Given the description of an element on the screen output the (x, y) to click on. 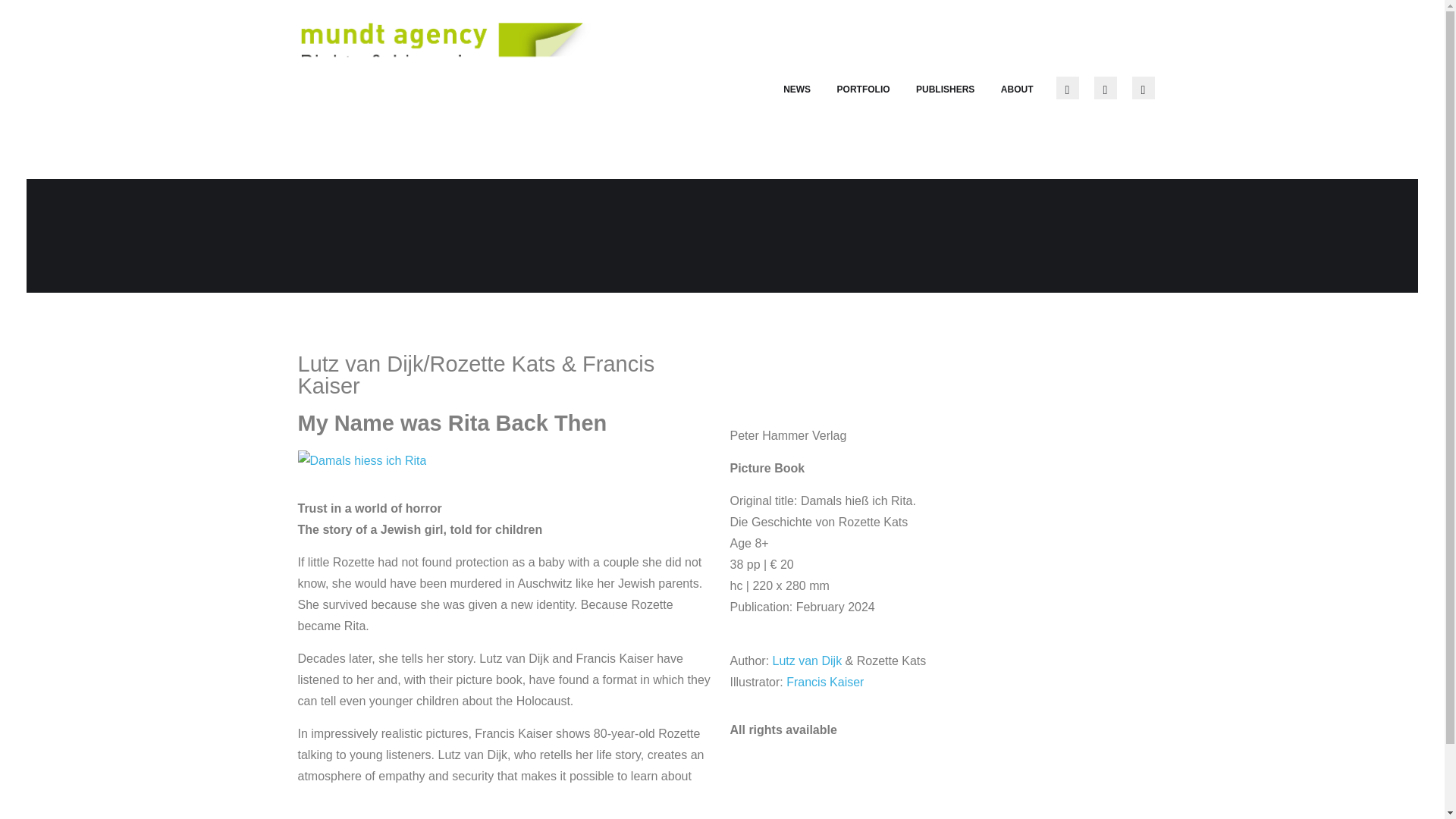
NEWS (796, 89)
Open new page to look into the book (361, 460)
PORTFOLIO (863, 89)
Damals hiess ich Rita (361, 460)
